Given the description of an element on the screen output the (x, y) to click on. 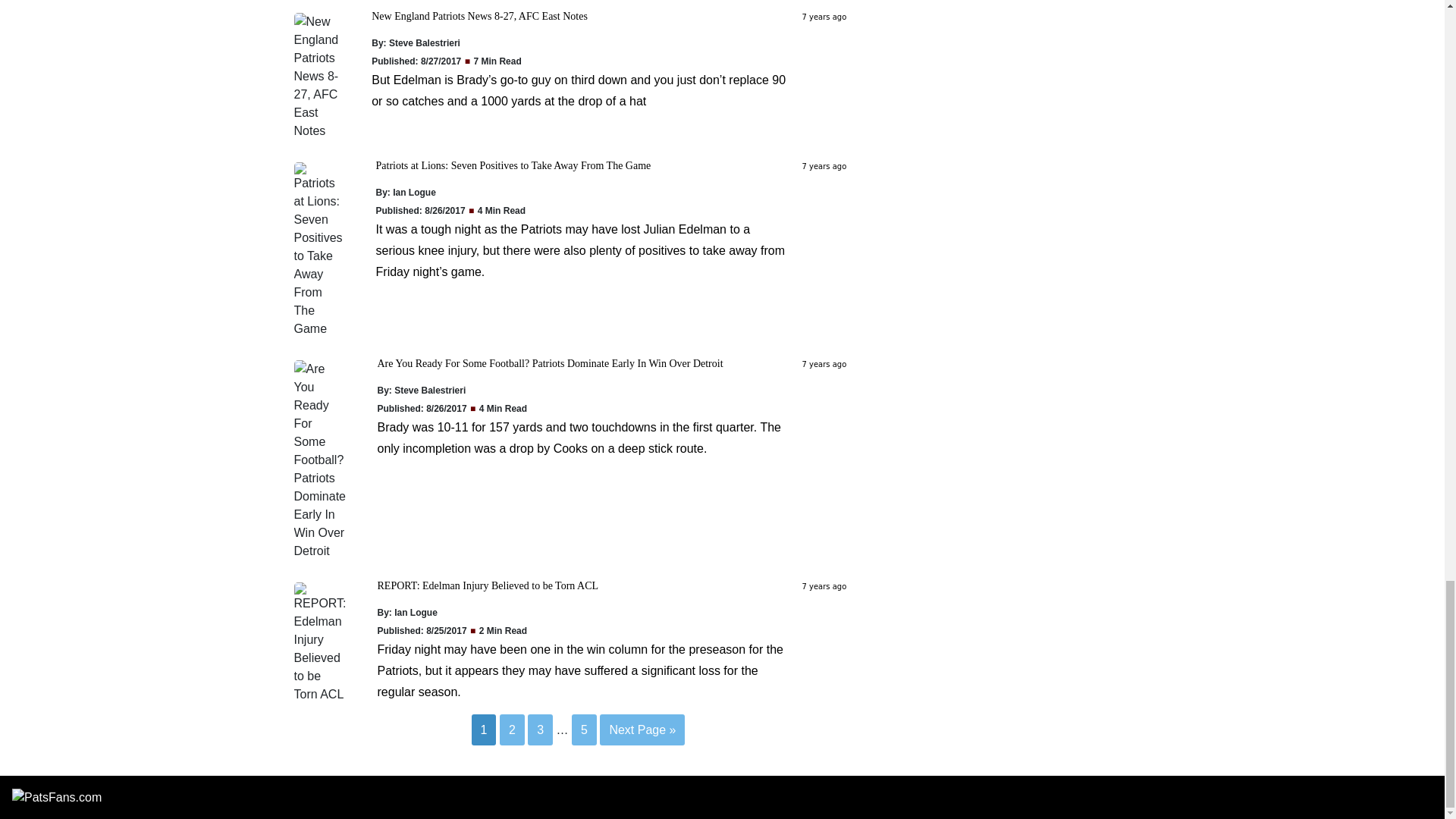
REPORT: Edelman Injury Believed to be Torn ACL (487, 585)
New England Patriots News 8-27, AFC East Notes (479, 16)
